Given the description of an element on the screen output the (x, y) to click on. 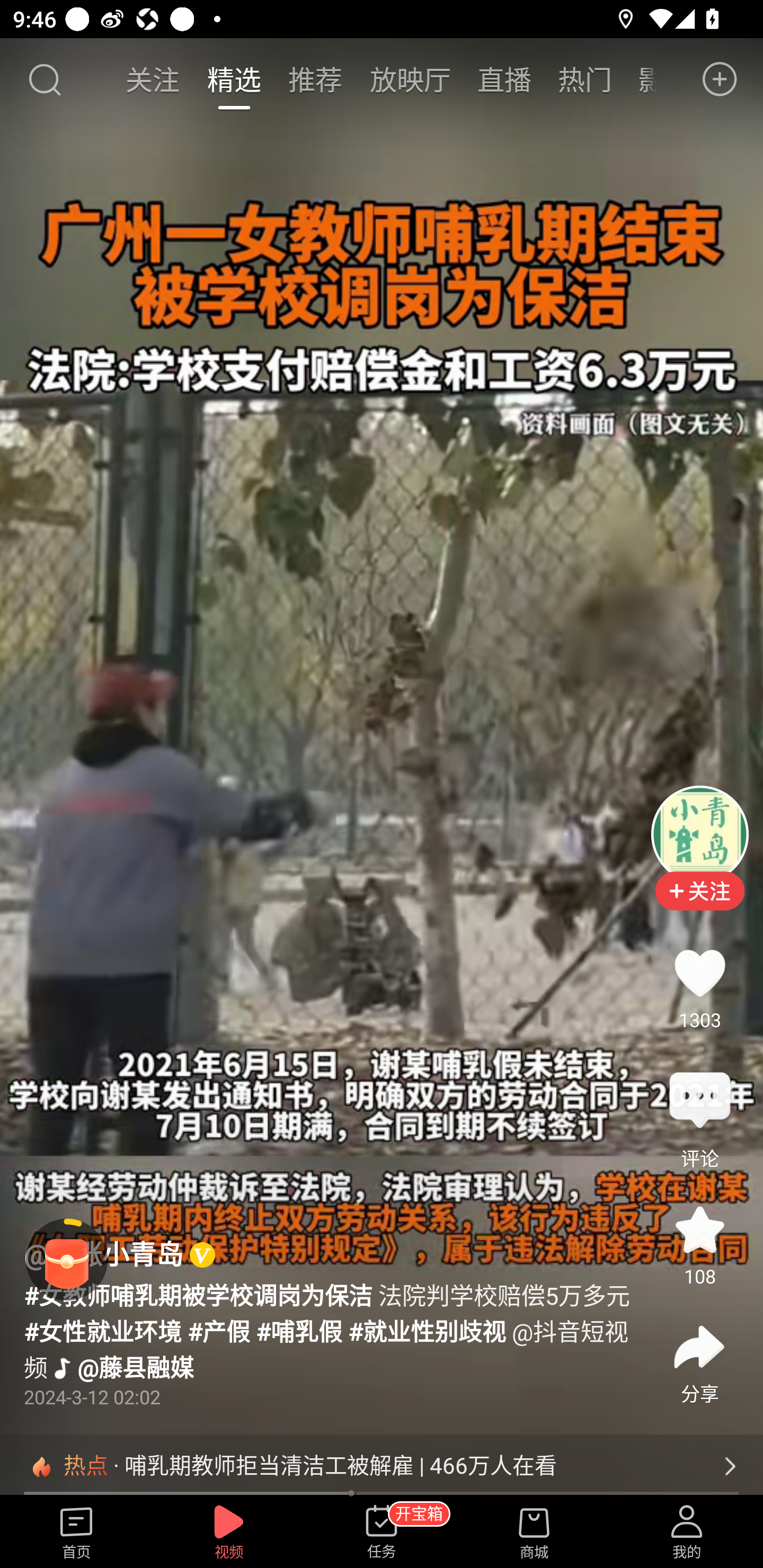
关注 (153, 79)
精选 (233, 79)
推荐 (315, 79)
放映厅 (409, 79)
直播 (504, 79)
热门 (584, 79)
搜索 (44, 79)
发布 (720, 79)
头像 (699, 833)
加关注 (699, 904)
点赞1303 1303 (699, 972)
评论 评论 评论 (699, 1101)
收藏 108 (699, 1229)
阅读赚金币 (66, 1259)
分享 (699, 1347)
热点  · 哺乳期教师拒当清洁工被解雇  | 466万人在看 (381, 1465)
首页 (76, 1532)
视频 (228, 1532)
任务 开宝箱 (381, 1532)
商城 (533, 1532)
我的 (686, 1532)
